Given the description of an element on the screen output the (x, y) to click on. 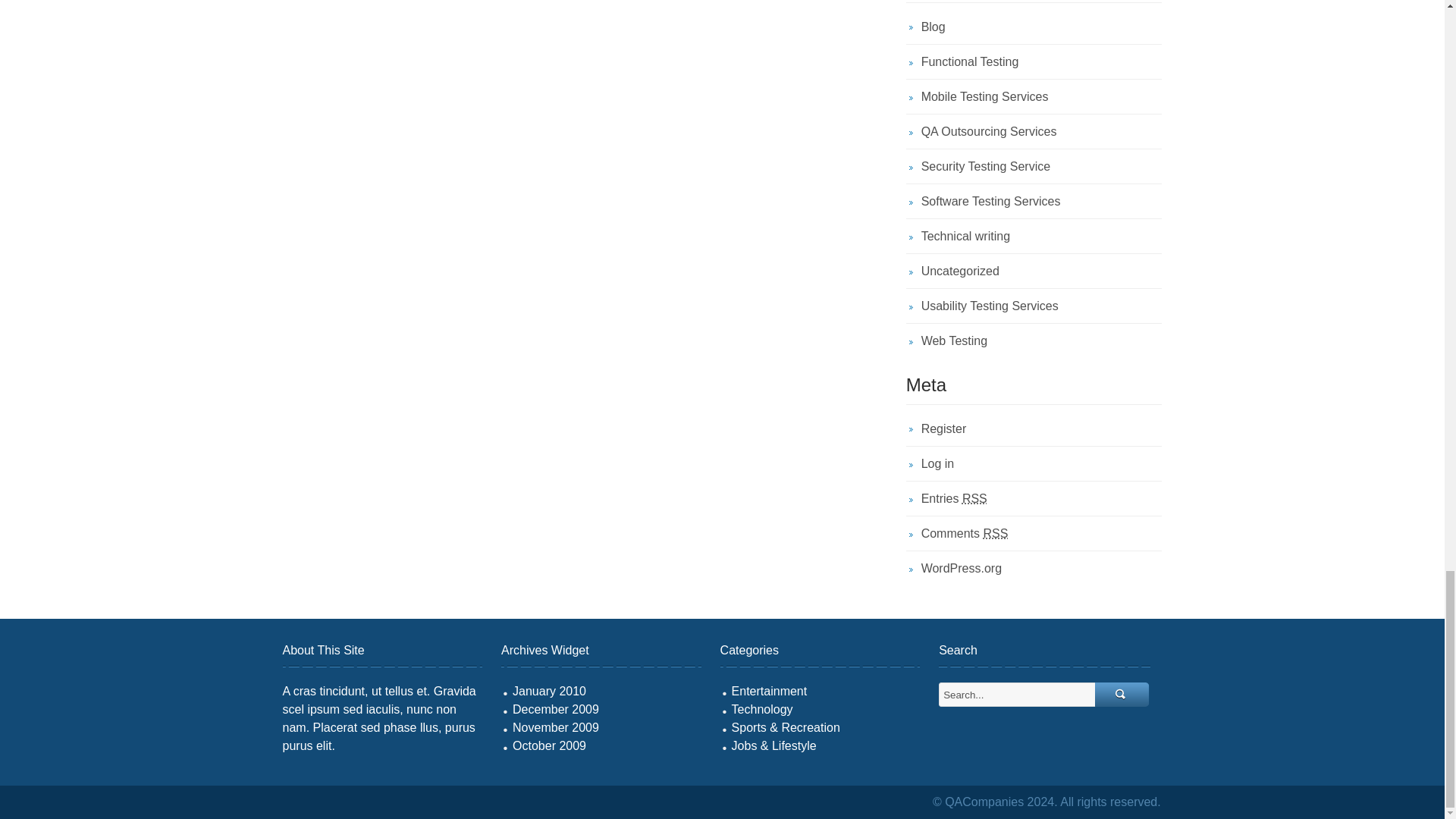
Search... (1122, 694)
Search... (1018, 694)
Really Simple Syndication (994, 533)
Really Simple Syndication (974, 498)
